Given the description of an element on the screen output the (x, y) to click on. 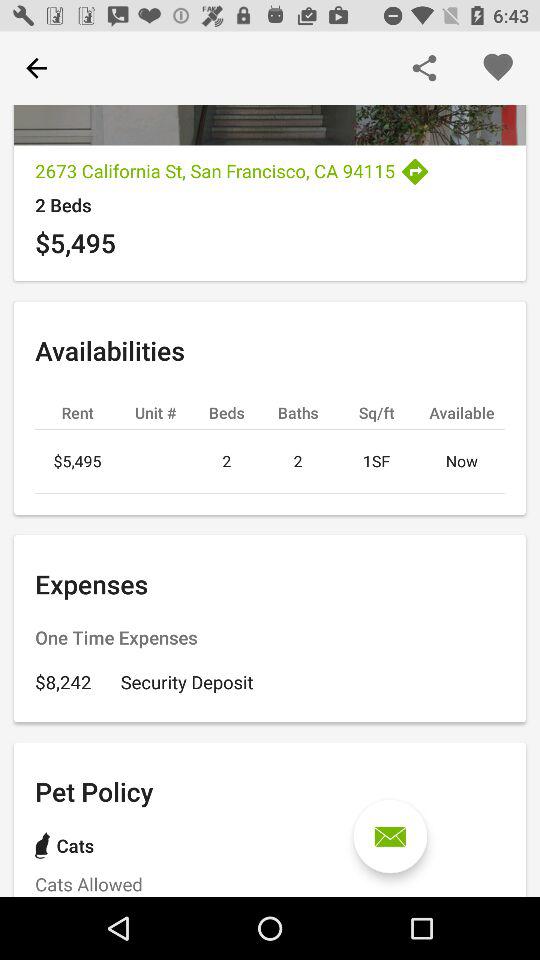
open icon at the bottom right corner (389, 836)
